Given the description of an element on the screen output the (x, y) to click on. 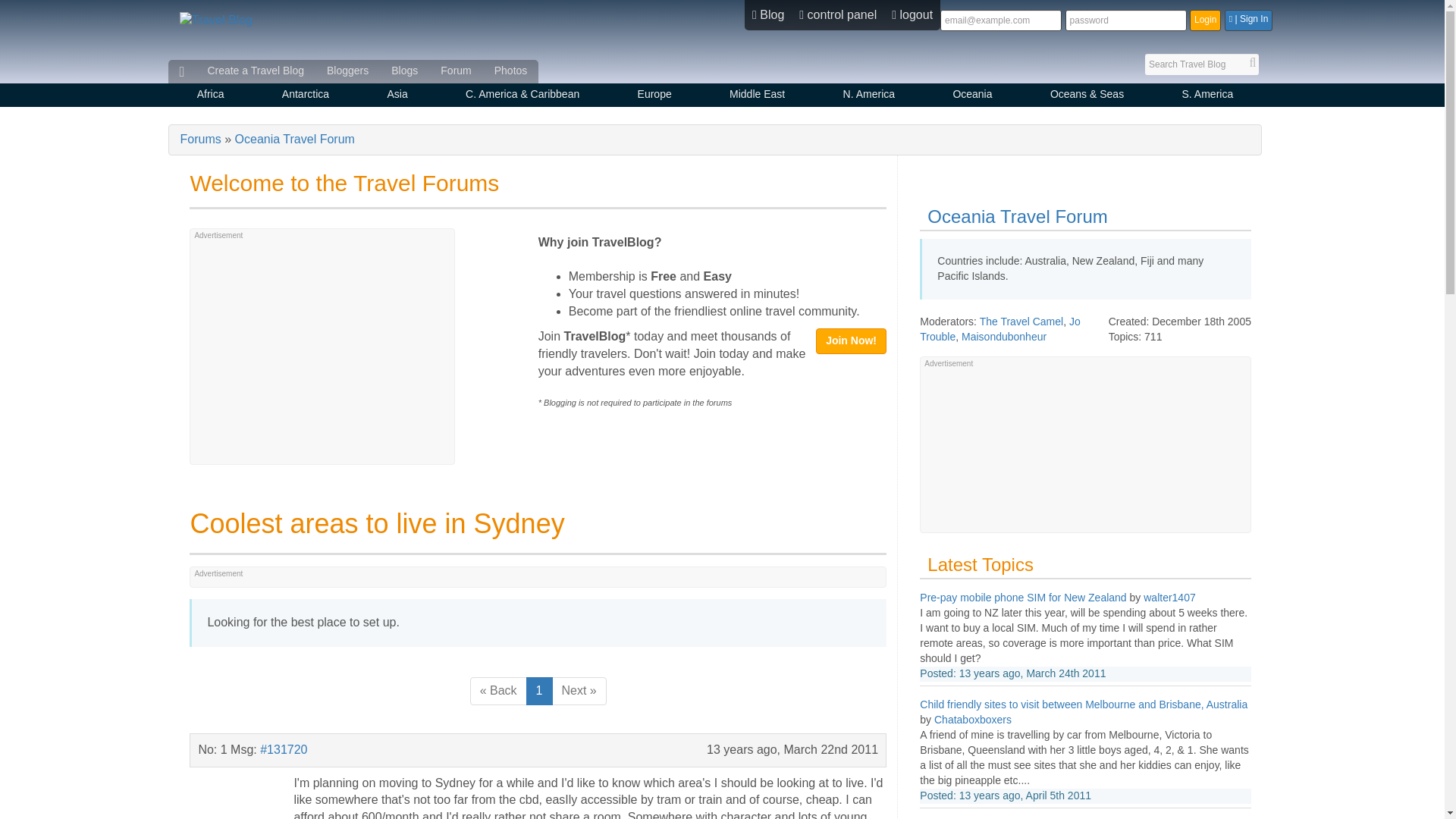
S. America (1207, 95)
control panel (837, 15)
Create a Travel Blog (255, 71)
Login (1205, 20)
logout (911, 15)
Login (1205, 20)
Europe (654, 95)
N. America (868, 95)
Bloggers (347, 71)
Photos (510, 71)
